Given the description of an element on the screen output the (x, y) to click on. 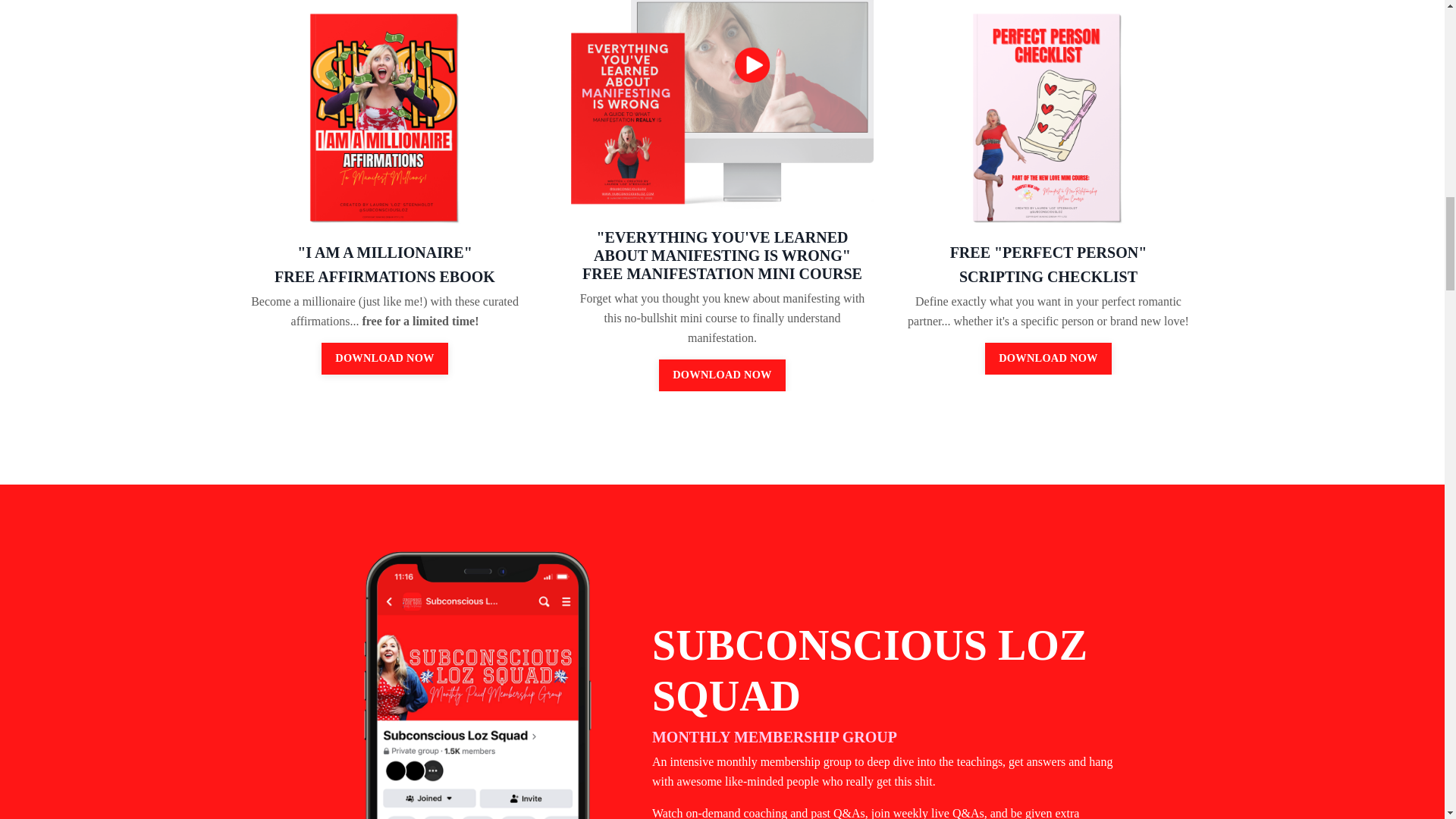
DOWNLOAD NOW (384, 358)
DOWNLOAD NOW (722, 375)
DOWNLOAD NOW (1048, 358)
